Given the description of an element on the screen output the (x, y) to click on. 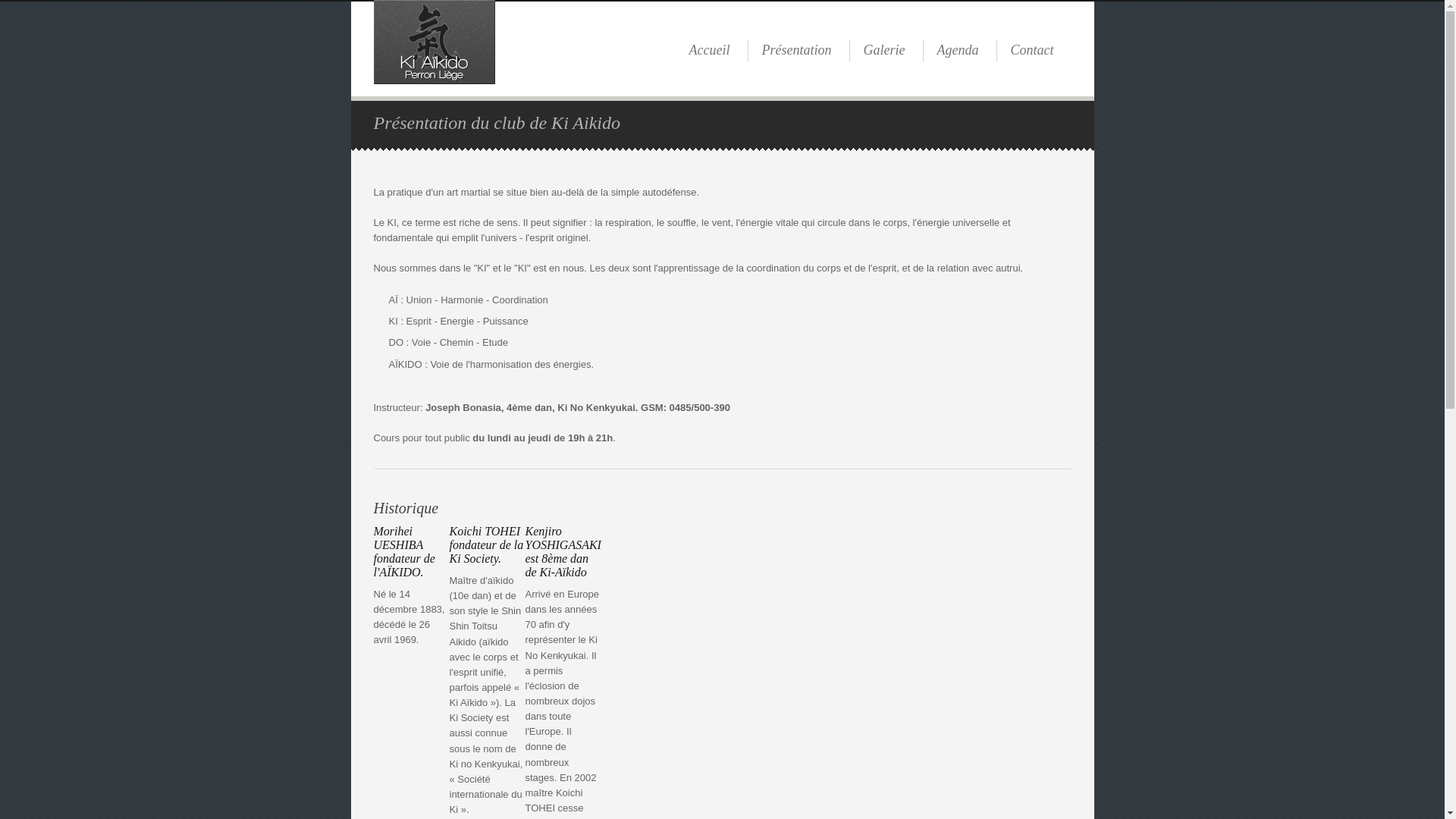
Contact Element type: text (1031, 50)
Agenda Element type: text (957, 50)
Accueil Element type: text (709, 50)
Galerie Element type: text (884, 50)
